Given the description of an element on the screen output the (x, y) to click on. 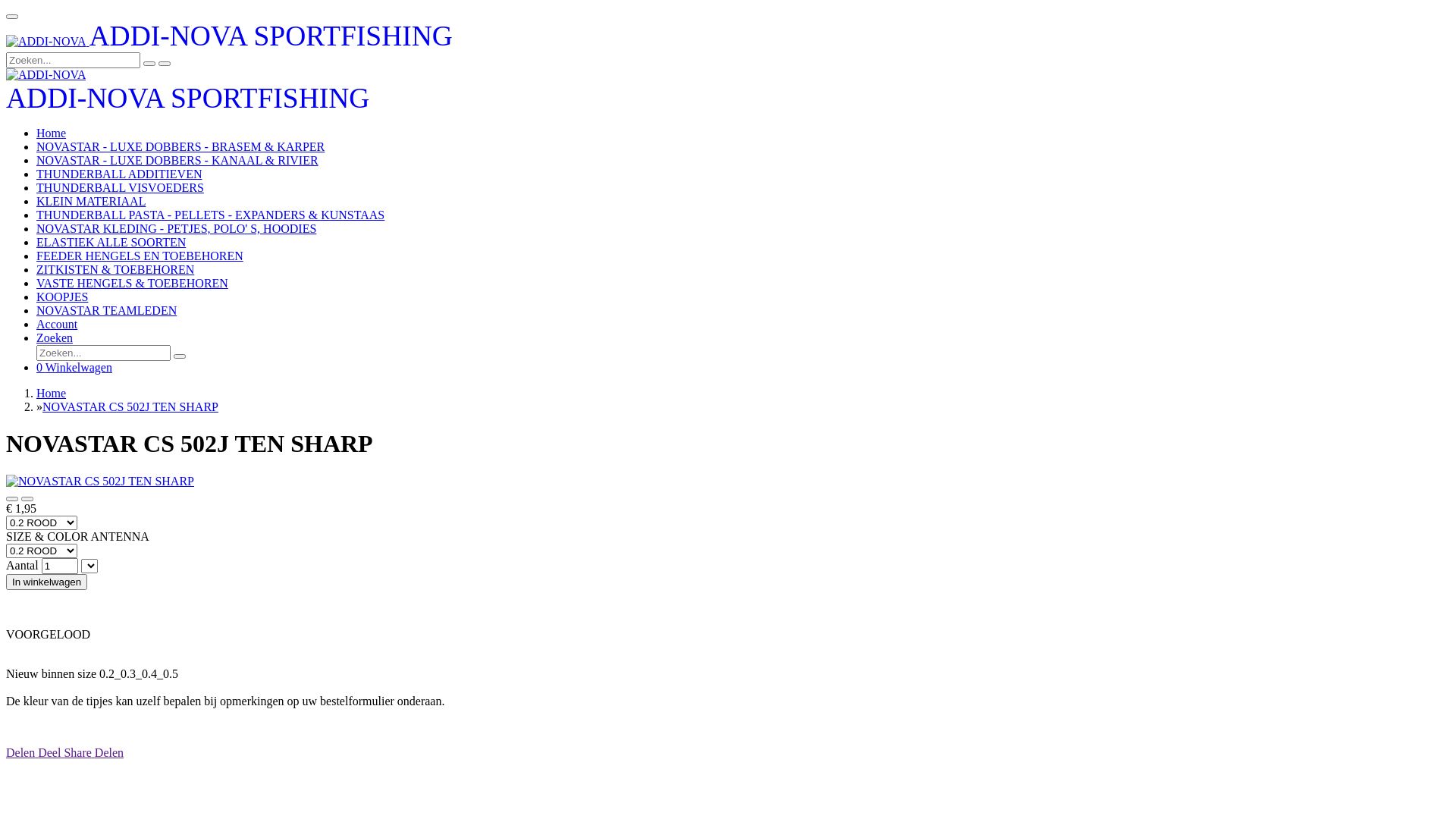
FEEDER HENGELS EN TOEBEHOREN Element type: text (139, 255)
NOVASTAR - LUXE DOBBERS - BRASEM & KARPER Element type: text (180, 146)
KLEIN MATERIAAL Element type: text (90, 200)
In winkelwagen Element type: text (46, 581)
NOVASTAR TEAMLEDEN Element type: text (106, 310)
Delen Element type: text (108, 752)
THUNDERBALL PASTA - PELLETS - EXPANDERS & KUNSTAAS Element type: text (210, 214)
VASTE HENGELS & TOEBEHOREN Element type: text (132, 282)
Home Element type: text (50, 132)
Account Element type: text (56, 323)
ADDI-NOVA SPORTFISHING Element type: text (187, 103)
0 Winkelwagen Element type: text (74, 366)
Deel Element type: text (50, 752)
THUNDERBALL VISVOEDERS Element type: text (119, 187)
KOOPJES Element type: text (61, 296)
ELASTIEK ALLE SOORTEN Element type: text (110, 241)
ADDI-NOVA Element type: hover (45, 74)
NOVASTAR - LUXE DOBBERS - KANAAL & RIVIER Element type: text (177, 159)
Home Element type: text (50, 392)
Delen Element type: text (21, 752)
THUNDERBALL ADDITIEVEN Element type: text (118, 173)
Share Element type: text (78, 752)
NOVASTAR KLEDING - PETJES, POLO' S, HOODIES Element type: text (176, 228)
NOVASTAR CS 502J TEN SHARP Element type: text (130, 406)
ADDI-NOVA Element type: hover (45, 41)
ADDI-NOVA SPORTFISHING Element type: text (229, 40)
Zoeken Element type: text (54, 337)
ZITKISTEN & TOEBEHOREN Element type: text (115, 269)
